Given the description of an element on the screen output the (x, y) to click on. 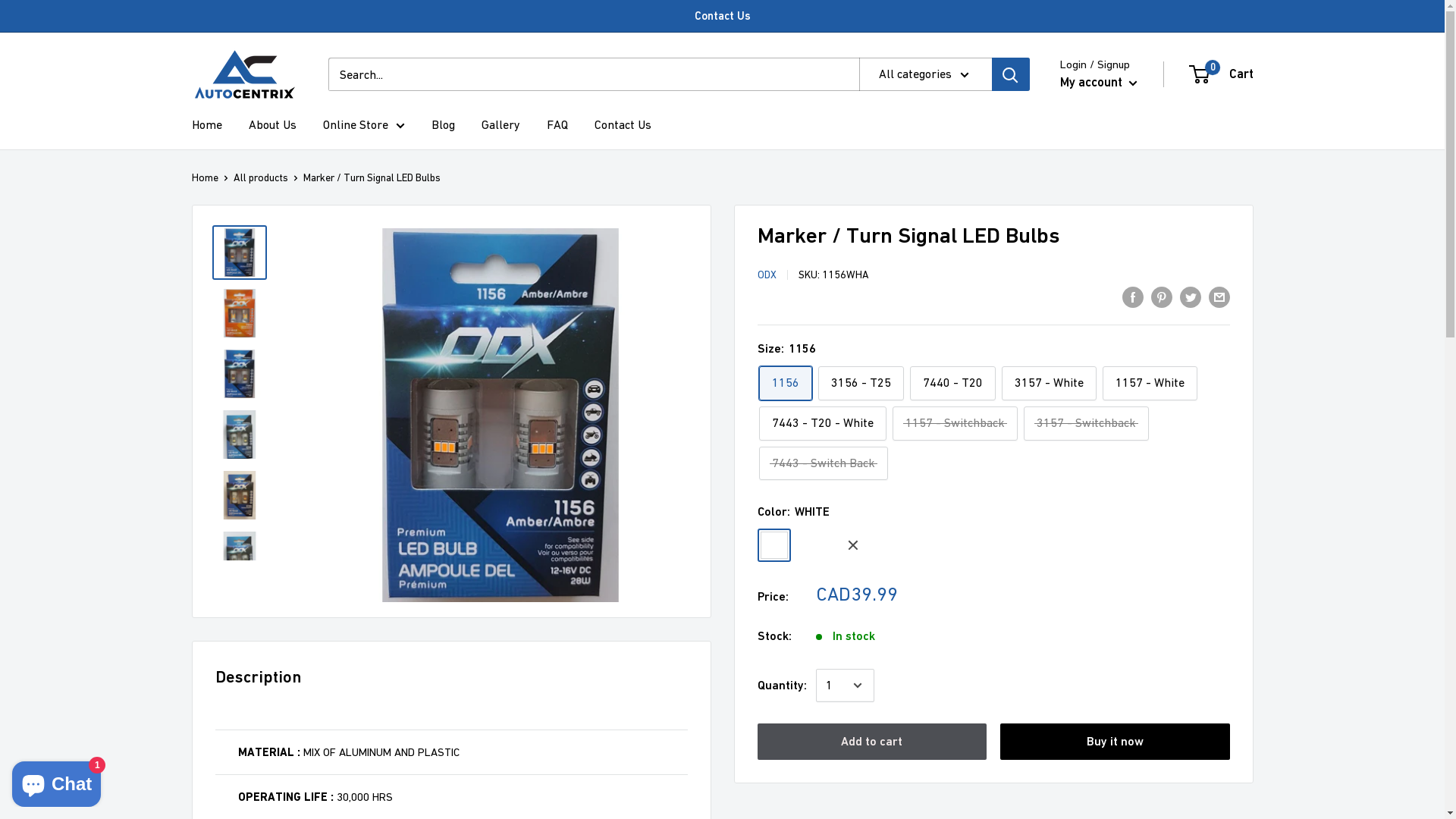
Contact Us Element type: text (622, 124)
Add to cart Element type: text (871, 741)
Buy it now Element type: text (1115, 741)
Blog Element type: text (442, 124)
Home Element type: text (206, 124)
Online Store Element type: text (363, 124)
FAQ Element type: text (556, 124)
AMBER Element type: hover (812, 544)
Home Element type: text (204, 177)
Contact Us Element type: text (722, 15)
About Us Element type: text (272, 124)
SWITCHBACK Element type: hover (852, 544)
0
Cart Element type: text (1221, 74)
Shopify online store chat Element type: hover (56, 780)
Gallery Element type: text (499, 124)
WHITE Element type: hover (773, 544)
My account Element type: text (1098, 82)
All products Element type: text (260, 177)
ODX Element type: text (765, 274)
